Given the description of an element on the screen output the (x, y) to click on. 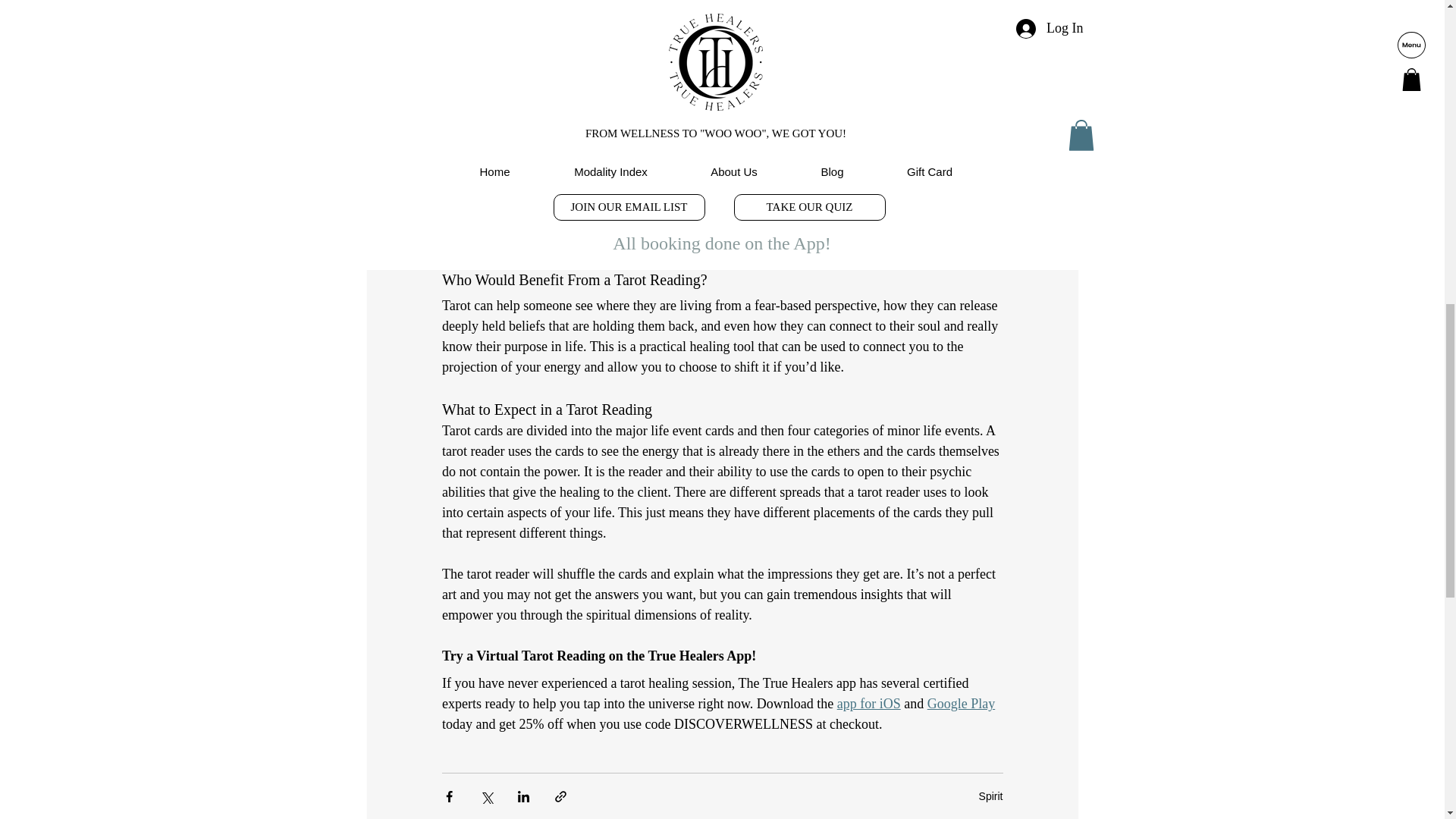
Google Play (960, 703)
Spirit (990, 796)
app for iOS (867, 703)
